Given the description of an element on the screen output the (x, y) to click on. 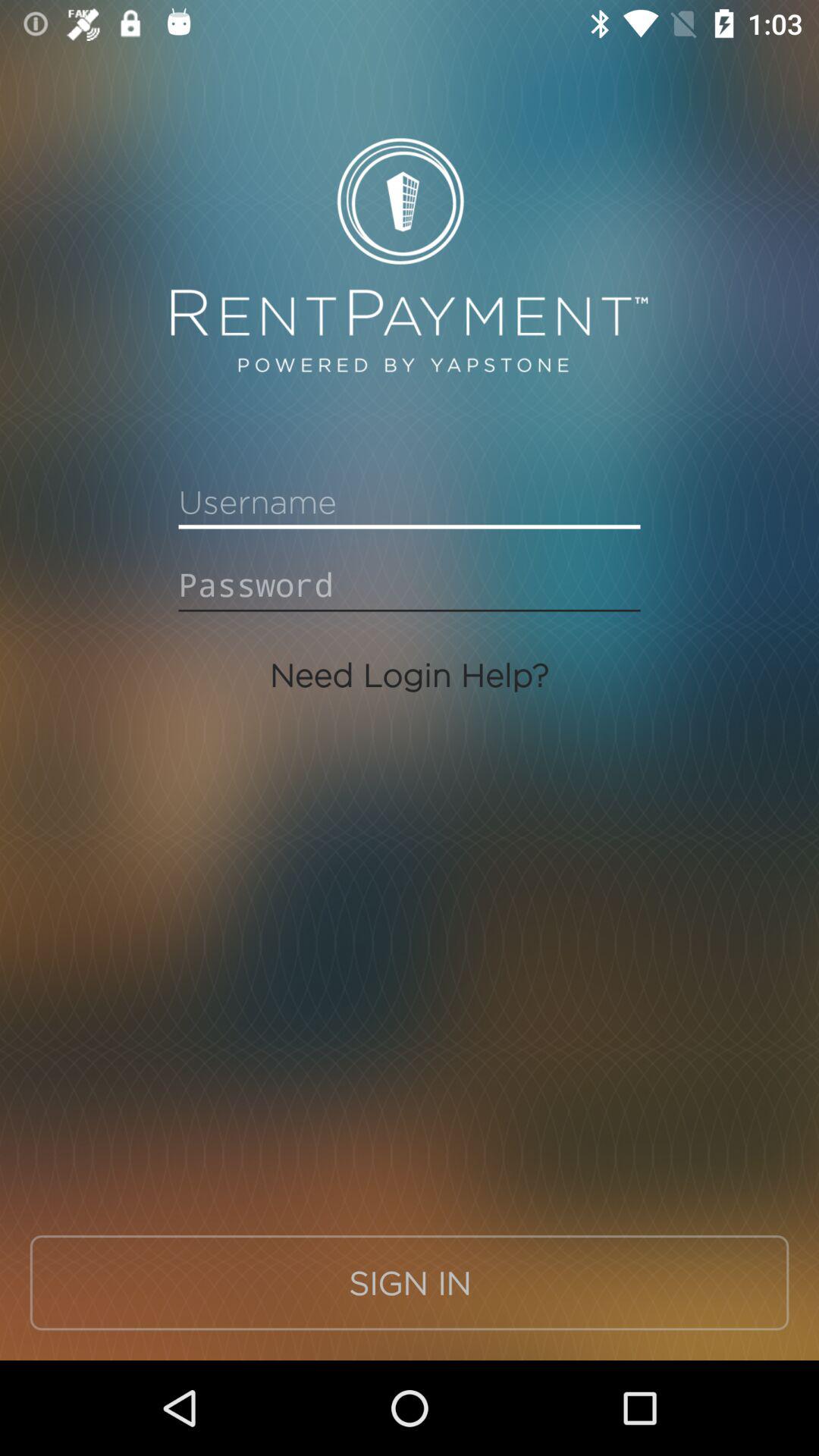
password field (409, 584)
